Given the description of an element on the screen output the (x, y) to click on. 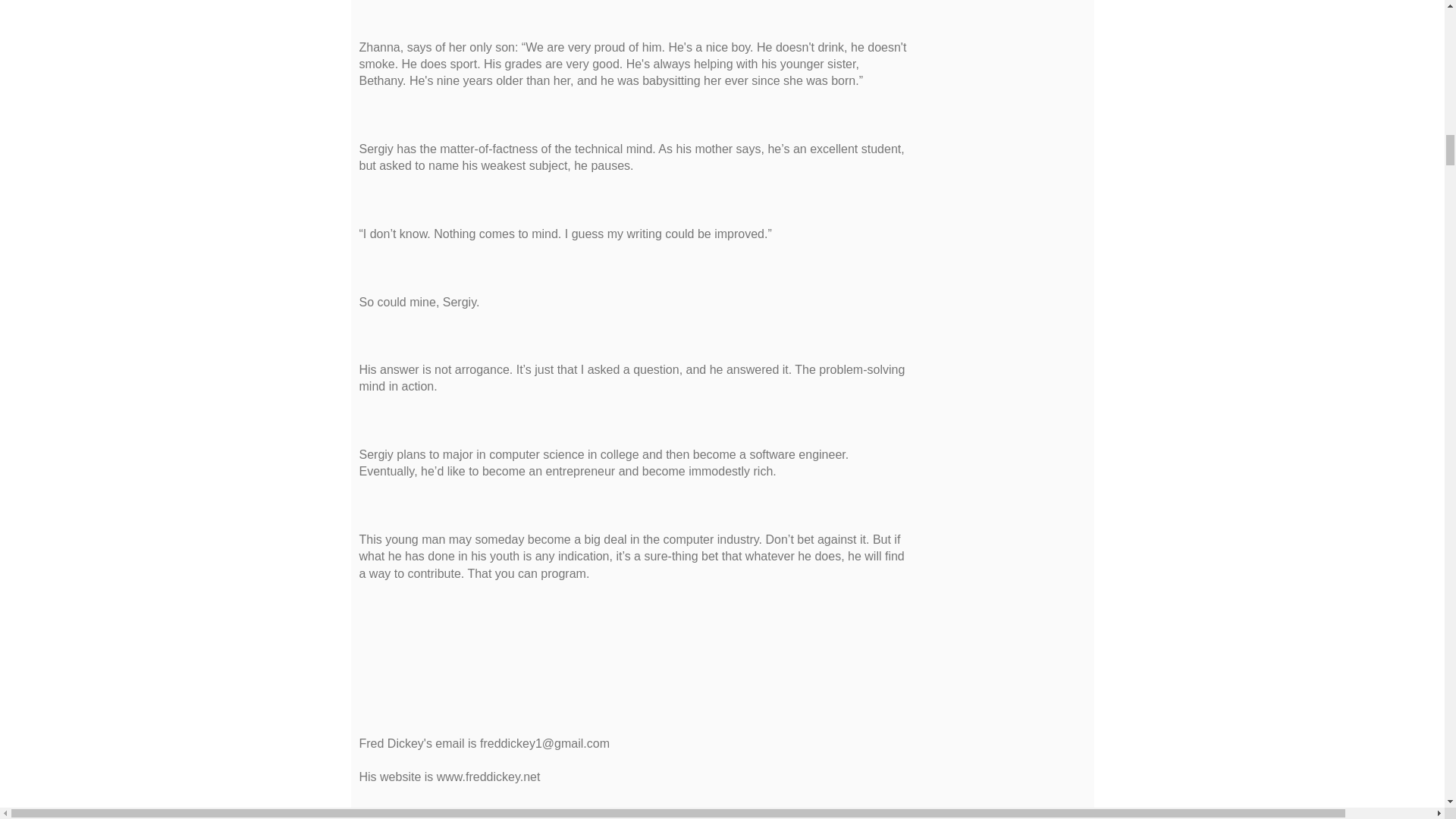
www.freddickey.net (488, 776)
